Given the description of an element on the screen output the (x, y) to click on. 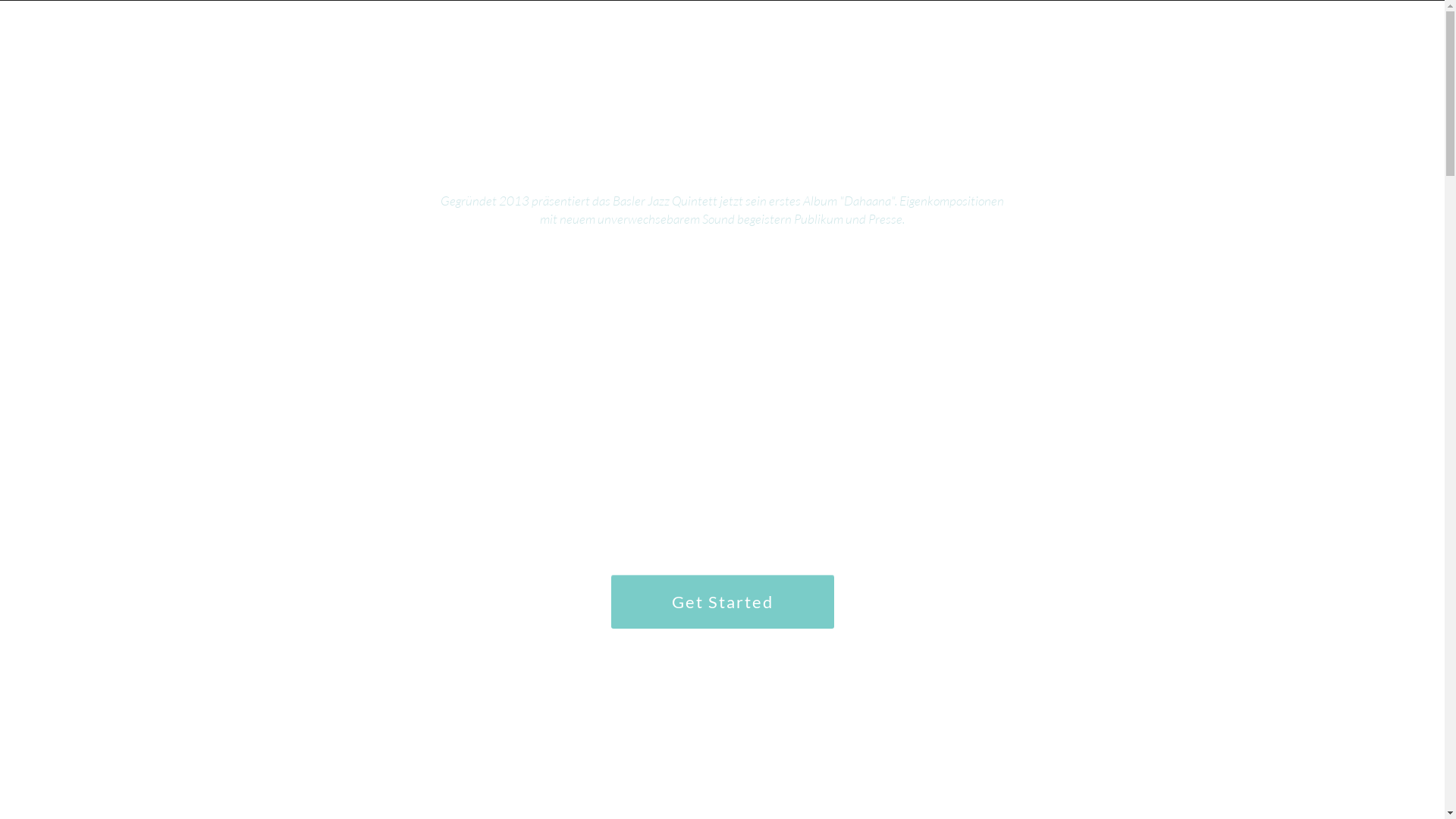
Play Button Element type: text (721, 339)
Get Started Element type: text (722, 601)
